Given the description of an element on the screen output the (x, y) to click on. 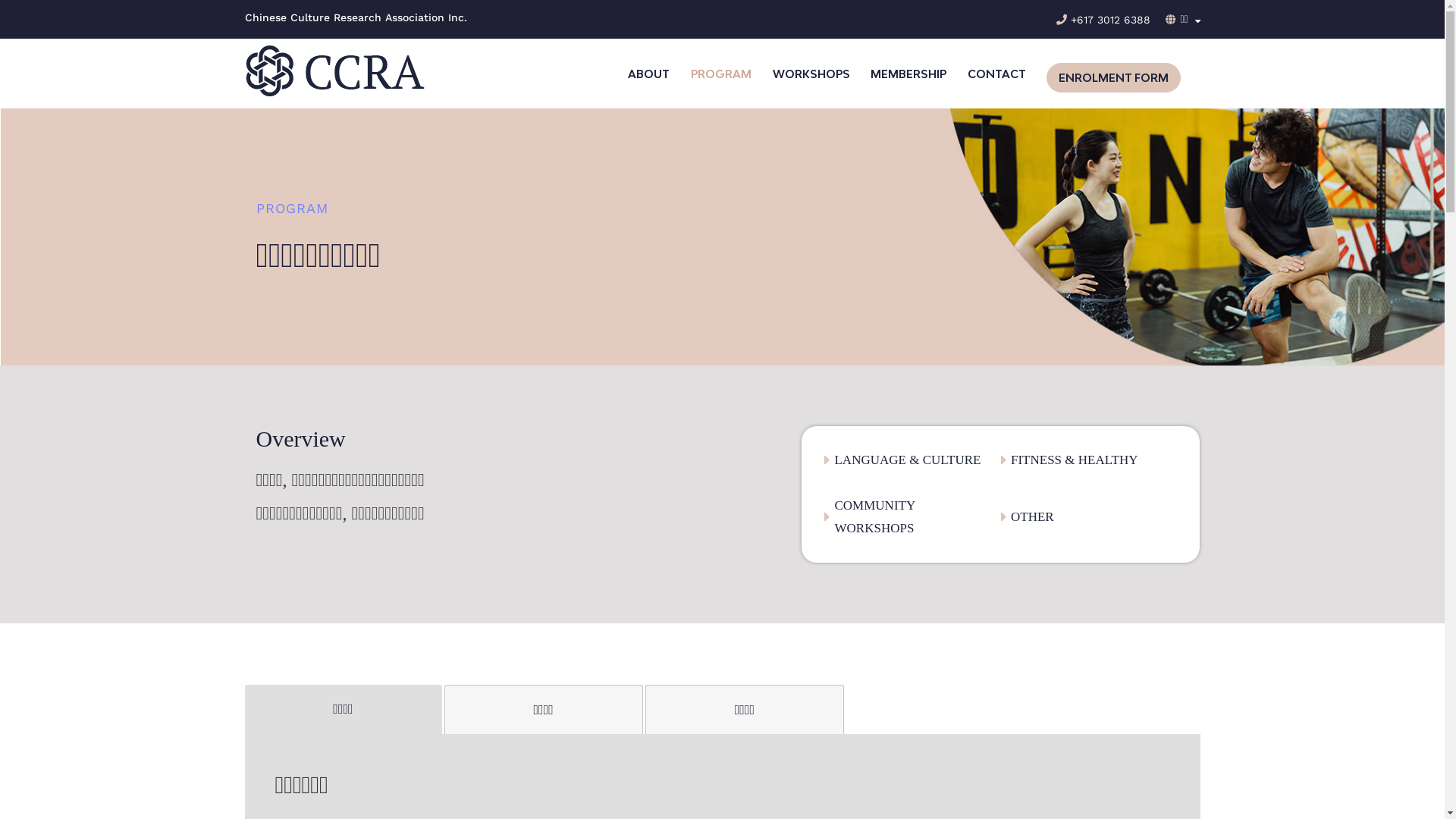
ENROLMENT FORM Element type: text (1113, 76)
CONTACT Element type: text (996, 72)
MEMBERSHIP Element type: text (908, 72)
WORKSHOPS Element type: text (810, 72)
ABOUT Element type: text (648, 72)
PROGRAM Element type: text (720, 72)
+617 3012 6388 Element type: text (1103, 19)
